Given the description of an element on the screen output the (x, y) to click on. 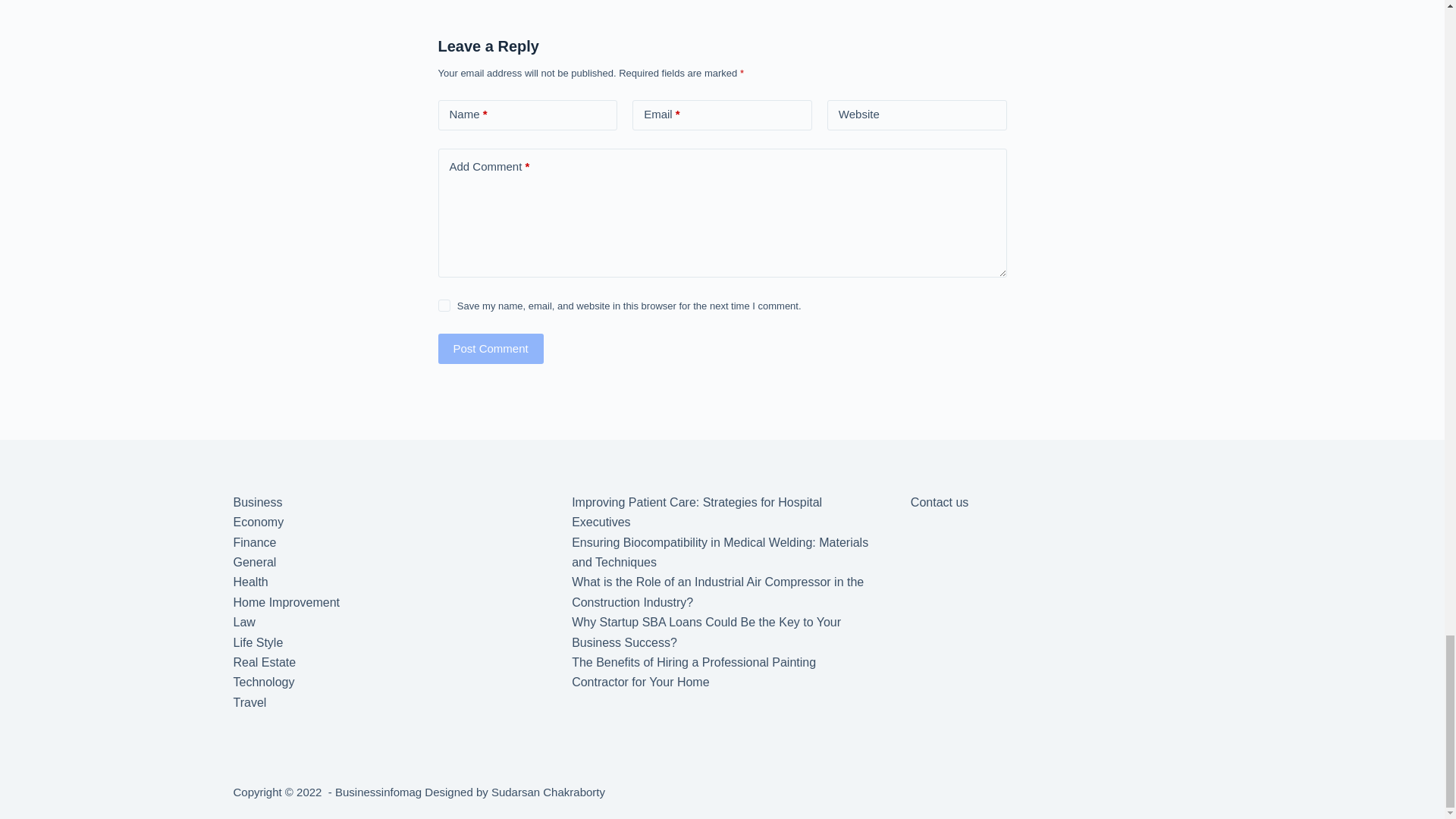
Economy (257, 521)
Post Comment (490, 348)
Home Improvement (286, 602)
Finance (254, 542)
Business (257, 502)
Health (249, 581)
yes (443, 305)
General (254, 562)
